Given the description of an element on the screen output the (x, y) to click on. 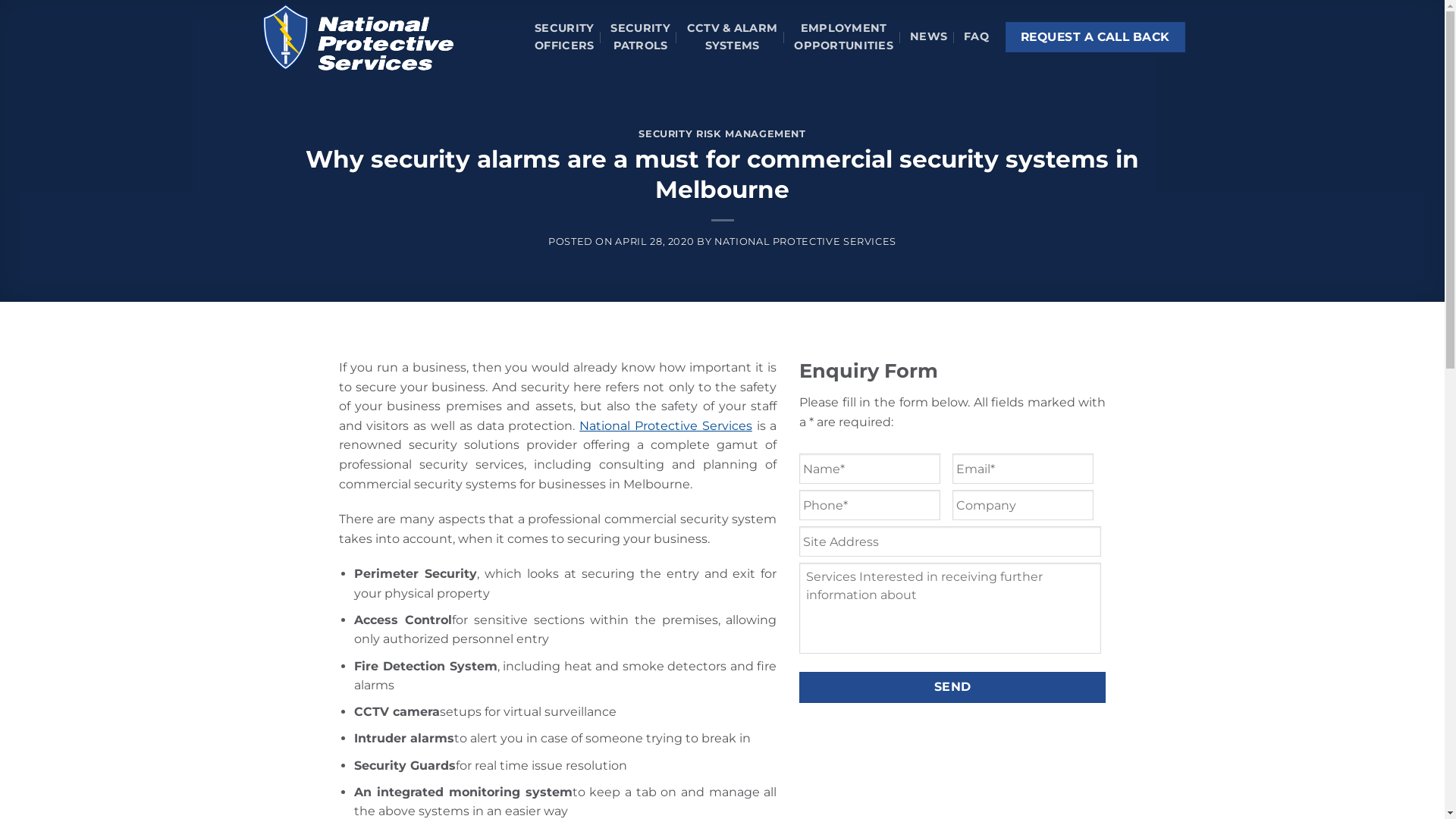
APRIL 28, 2020 Element type: text (654, 241)
FAQ Element type: text (975, 36)
SECURITY
PATROLS Element type: text (639, 37)
NATIONAL PROTECTIVE SERVICES Element type: text (805, 241)
CCTV & ALARM
SYSTEMS Element type: text (732, 37)
National Protective Services Element type: hover (357, 36)
EMPLOYMENT
OPPORTUNITIES Element type: text (843, 37)
Send Element type: text (952, 686)
Skip to content Element type: text (0, 0)
National Protective Services Element type: text (665, 425)
REQUEST A CALL BACK Element type: text (1094, 36)
SECURITY RISK MANAGEMENT Element type: text (721, 133)
NEWS Element type: text (928, 36)
SECURITY
OFFICERS Element type: text (563, 37)
